Given the description of an element on the screen output the (x, y) to click on. 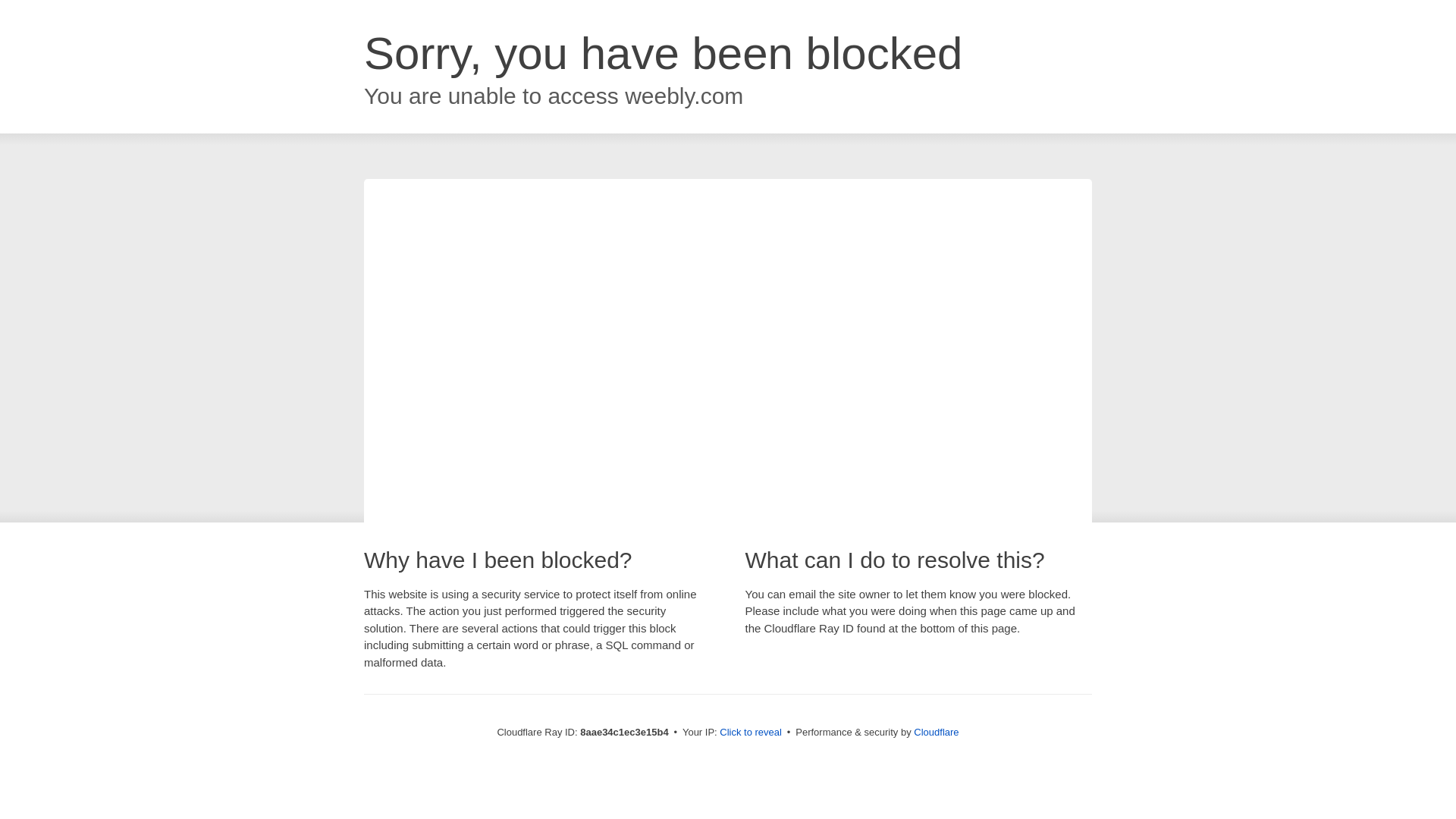
Cloudflare (936, 731)
Click to reveal (750, 732)
